Given the description of an element on the screen output the (x, y) to click on. 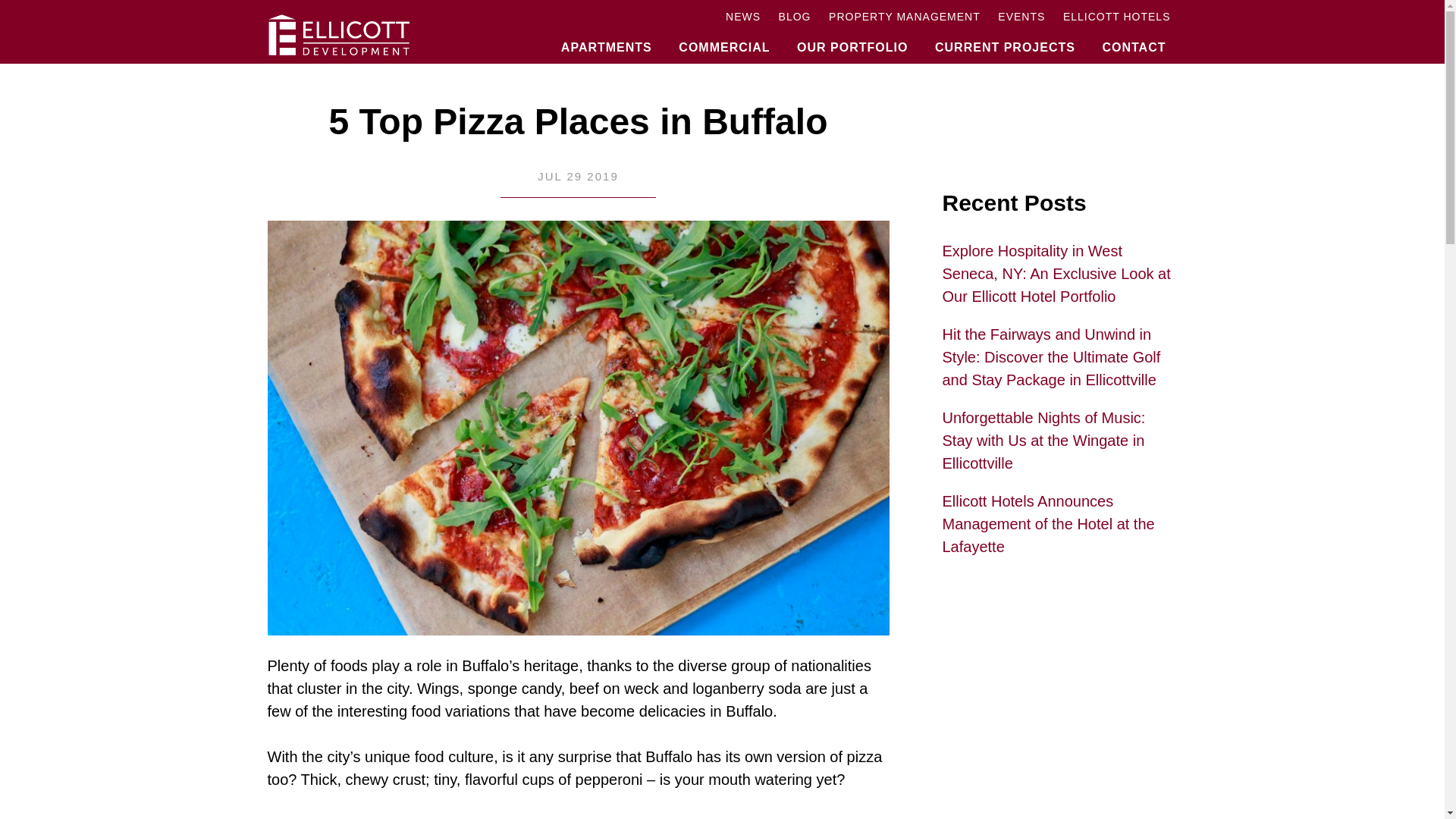
COMMERCIAL (723, 39)
CURRENT PROJECTS (1004, 39)
EVENTS (1021, 17)
BLOG (794, 17)
OUR PORTFOLIO (852, 39)
ELLICOTT DEVELOPMENT (395, 34)
APARTMENTS (606, 39)
CONTACT (1133, 39)
